Given the description of an element on the screen output the (x, y) to click on. 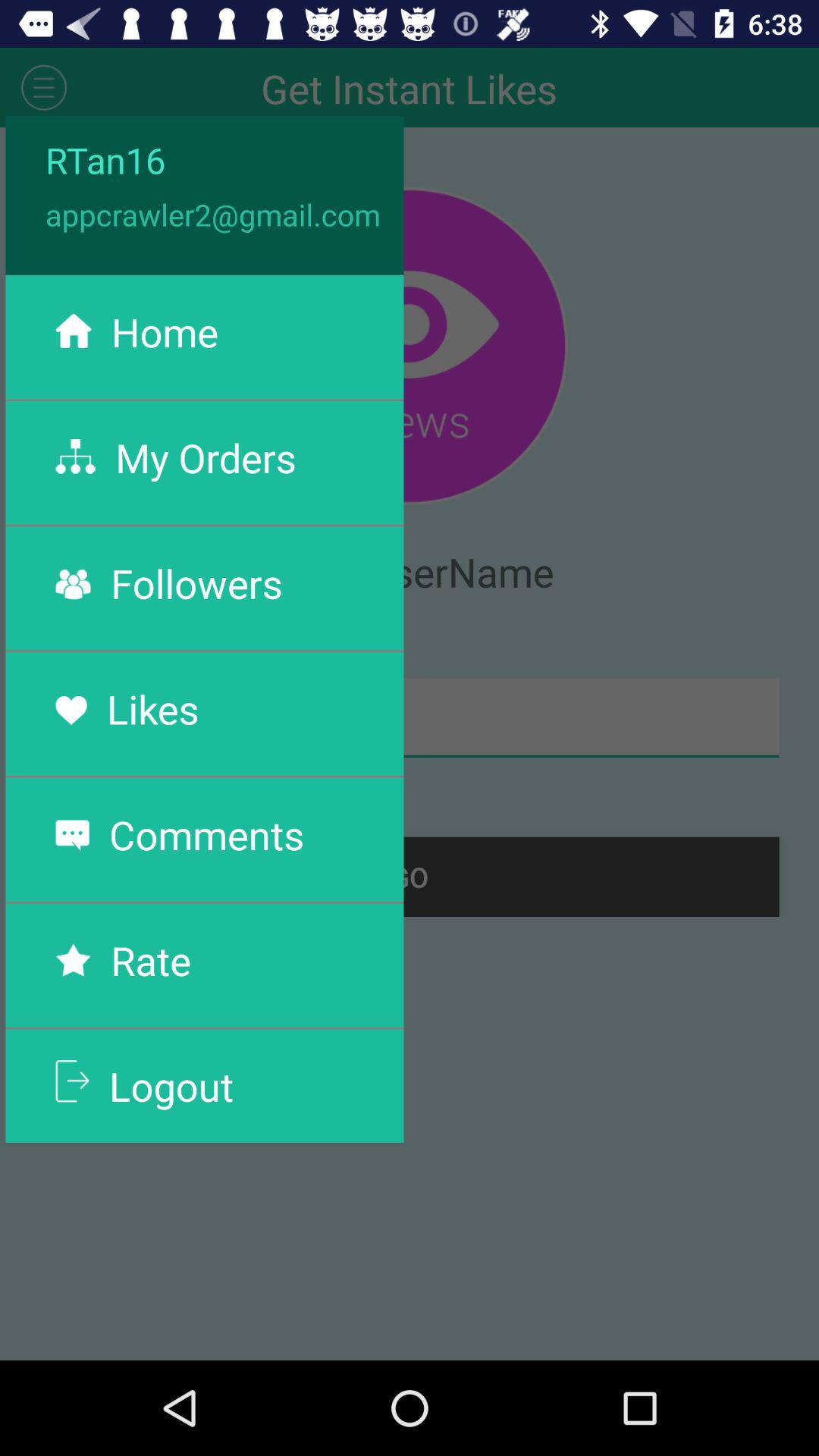
open comments icon (206, 834)
